Given the description of an element on the screen output the (x, y) to click on. 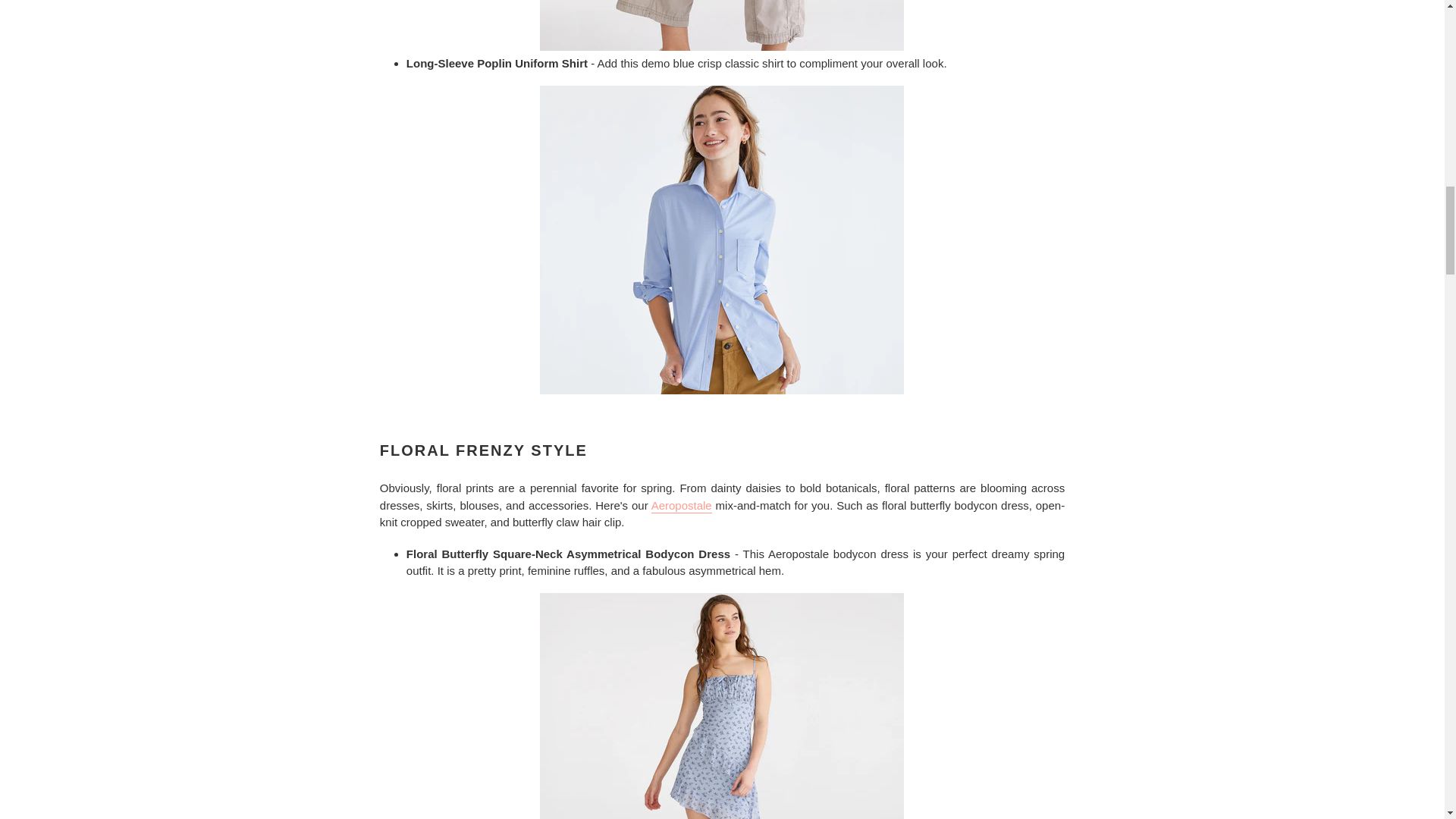
Aeropostale (680, 505)
Aeropostale (680, 505)
